Given the description of an element on the screen output the (x, y) to click on. 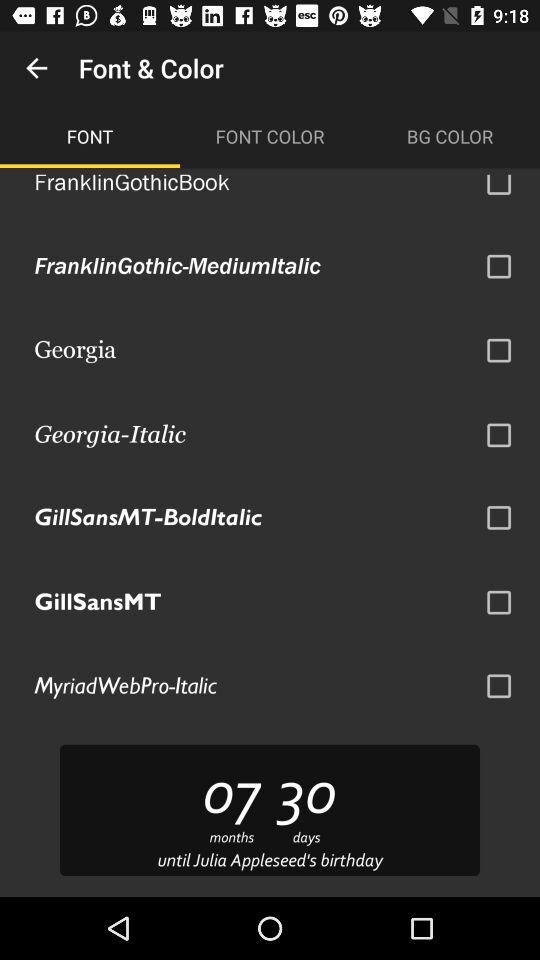
press item above the font item (36, 68)
